Given the description of an element on the screen output the (x, y) to click on. 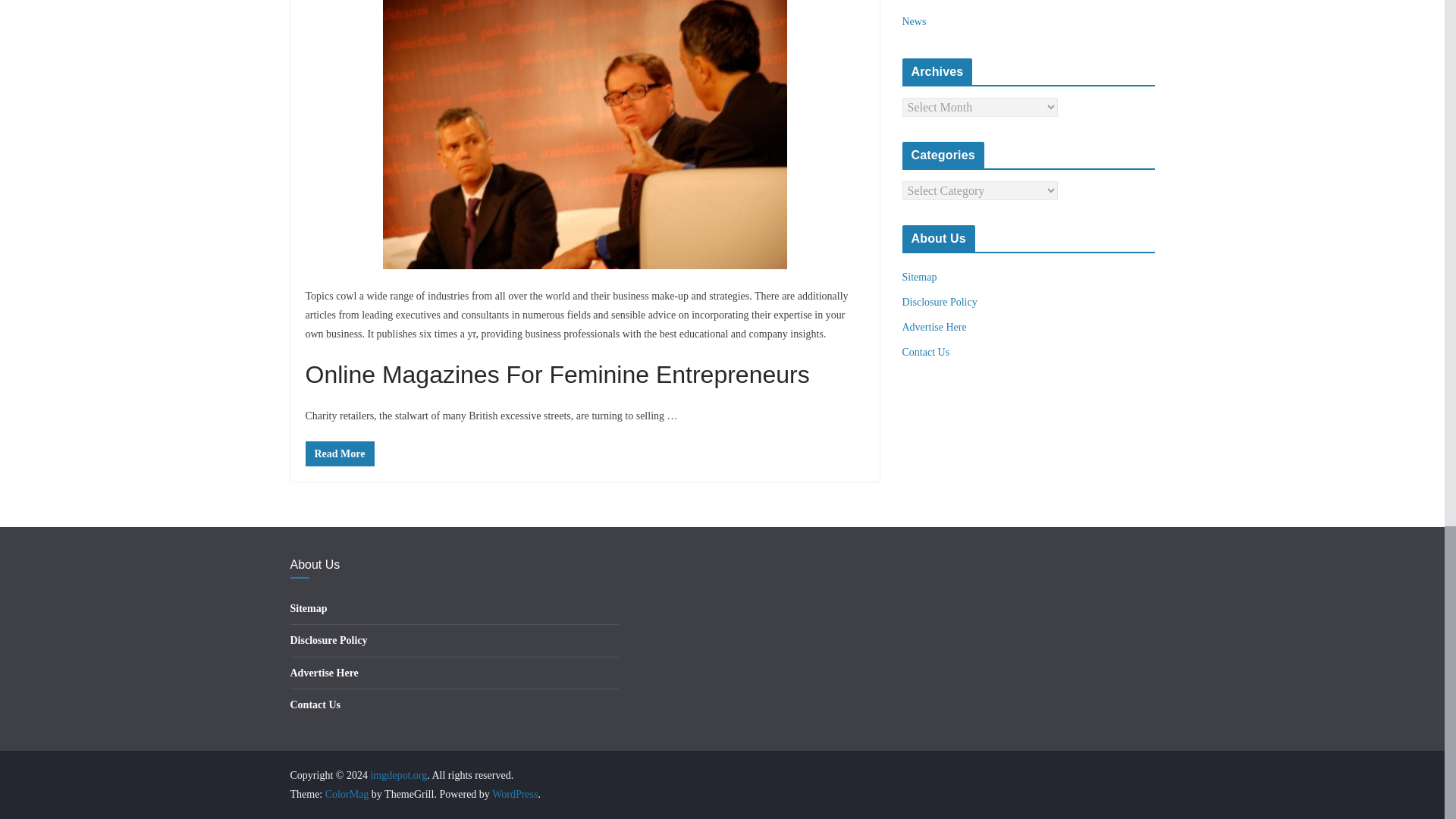
imgdepot.org (397, 775)
WordPress (514, 794)
Read More (339, 453)
ColorMag (346, 794)
